Given the description of an element on the screen output the (x, y) to click on. 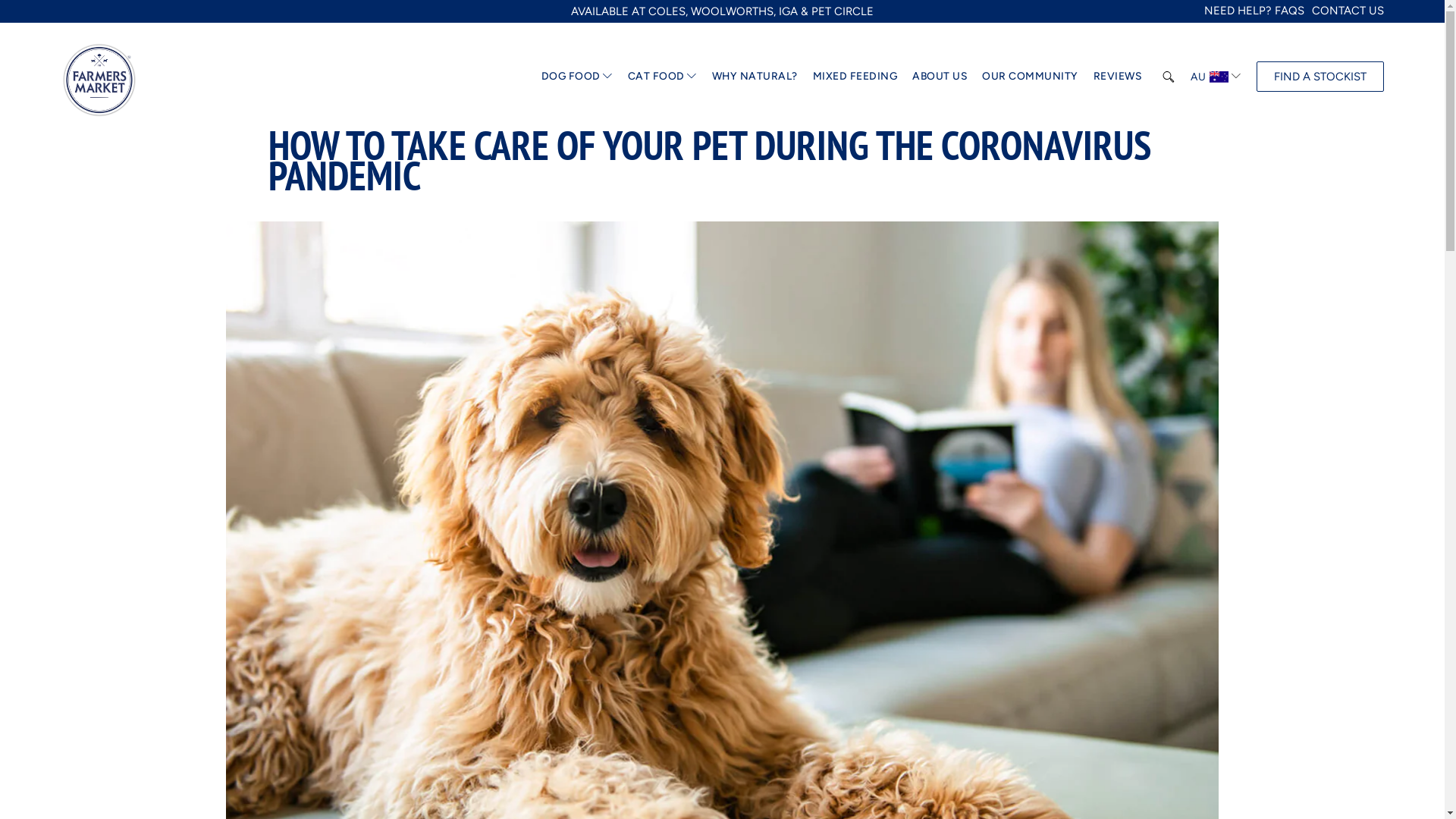
NEED HELP? FAQS Element type: text (1254, 10)
FIND A STOCKIST Element type: text (1319, 76)
DOG FOOD Element type: text (570, 75)
MIXED FEEDING Element type: text (854, 75)
OUR COMMUNITY Element type: text (1030, 75)
ABOUT US Element type: text (939, 75)
WHY NATURAL? Element type: text (754, 75)
AVAILABLE AT COLES, WOOLWORTHS, IGA & PET CIRCLE Element type: text (722, 11)
CONTACT US Element type: text (1347, 10)
CAT FOOD Element type: text (655, 75)
REVIEWS Element type: text (1117, 75)
